Given the description of an element on the screen output the (x, y) to click on. 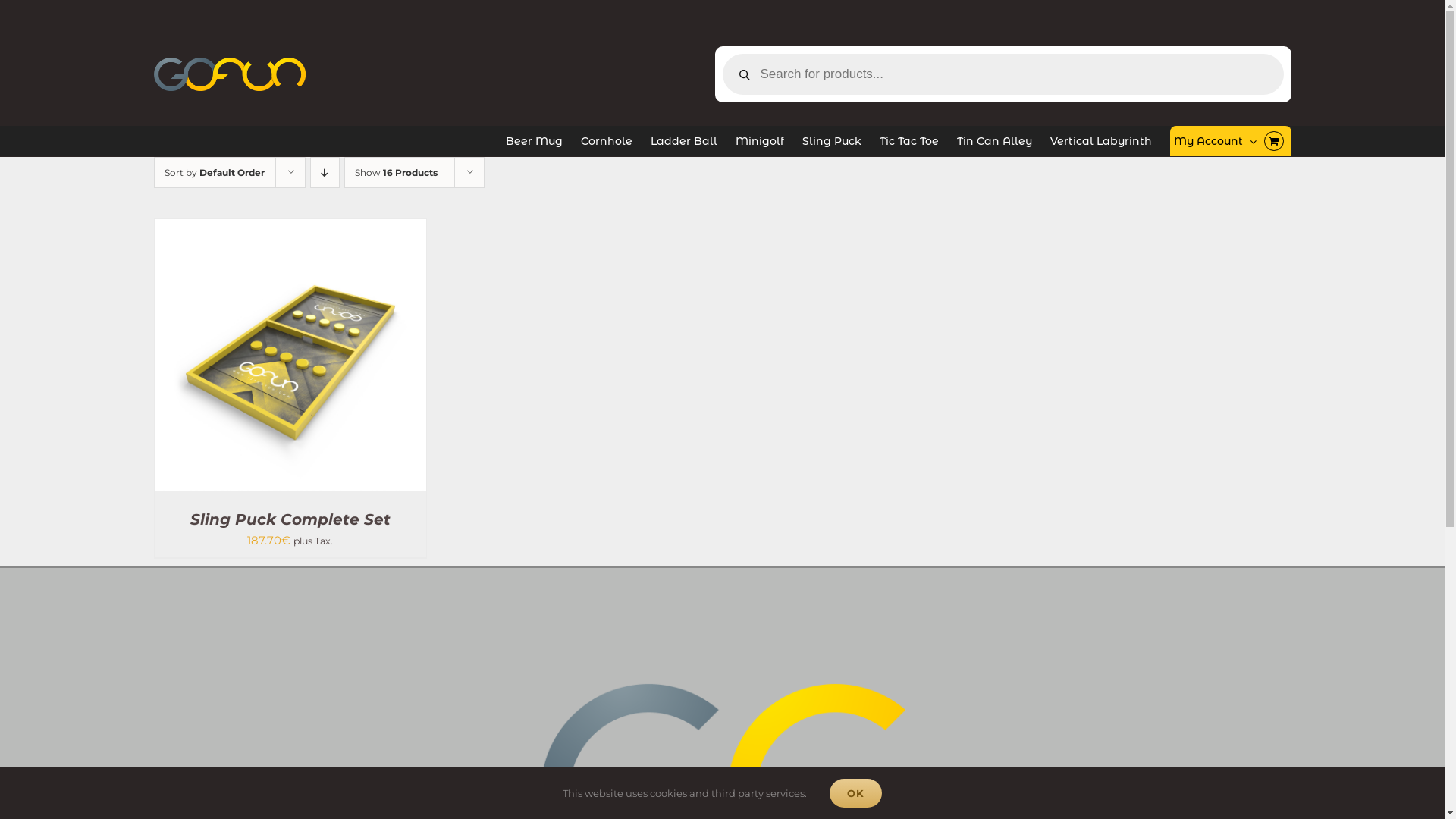
Vertical Labyrinth Element type: text (1100, 140)
Sling Puck Complete Set Element type: text (289, 519)
Tic Tac Toe Element type: text (908, 140)
Ladder Ball Element type: text (683, 140)
OK Element type: text (855, 792)
My Account Element type: text (1214, 140)
Tin Can Alley Element type: text (994, 140)
Minigolf Element type: text (759, 140)
Beer Mug Element type: text (533, 140)
Show 16 Products Element type: text (395, 172)
Cornhole Element type: text (606, 140)
Sling Puck Element type: text (831, 140)
Sort by Default Order Element type: text (213, 172)
Log In Element type: text (1261, 281)
